Given the description of an element on the screen output the (x, y) to click on. 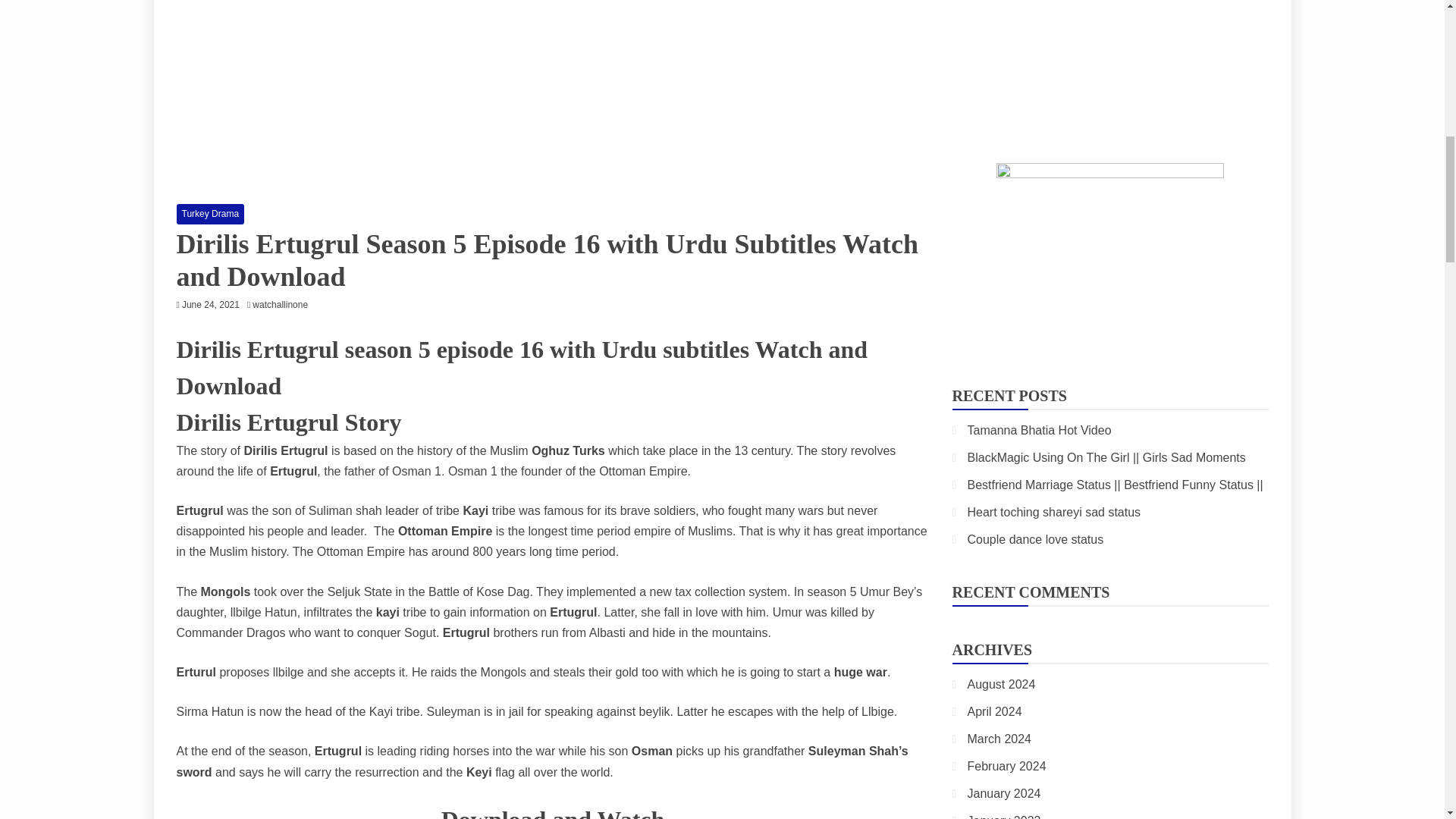
Turkey Drama (210, 213)
June 24, 2021 (211, 304)
watchallinone (283, 304)
